Given the description of an element on the screen output the (x, y) to click on. 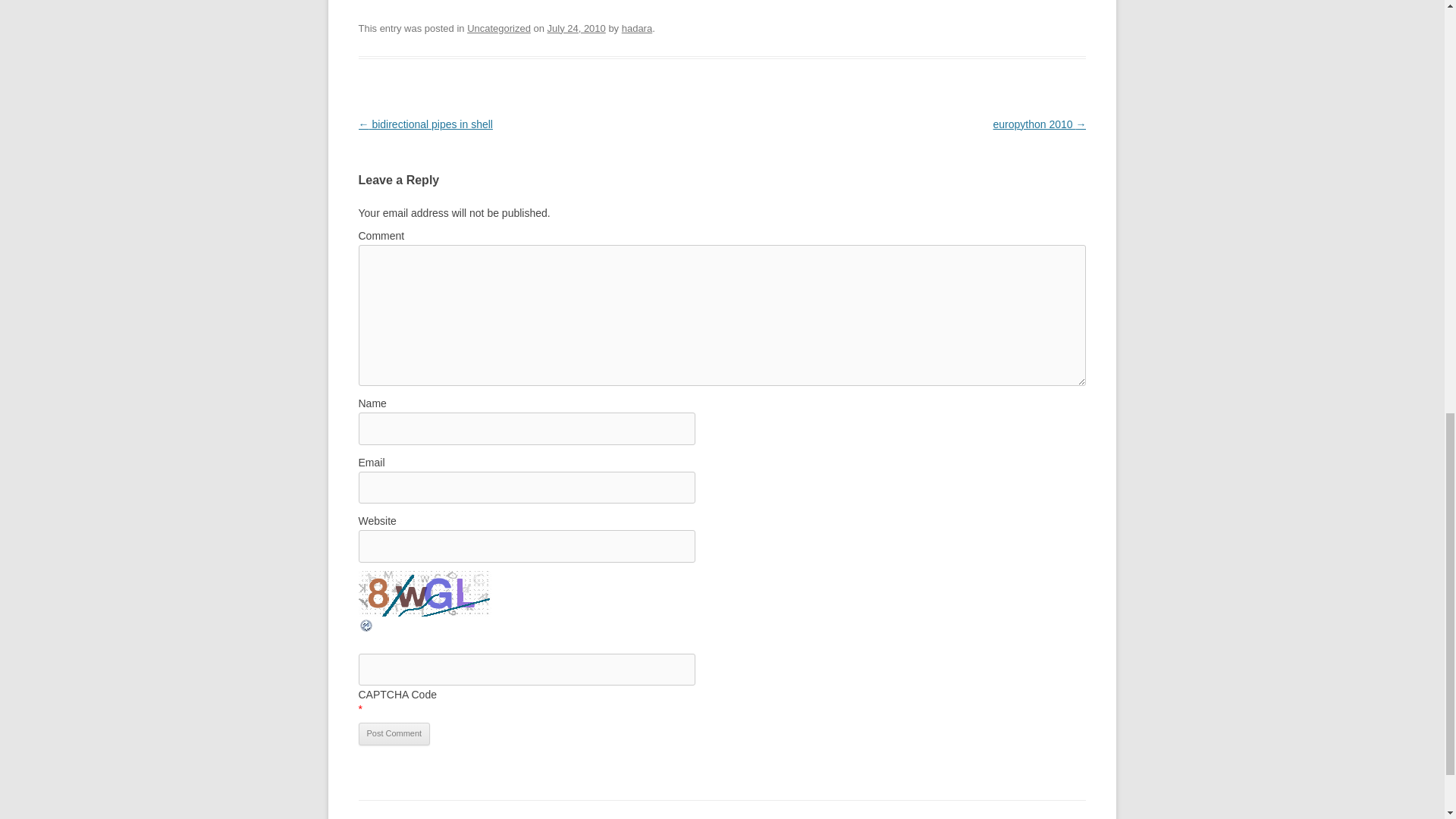
Uncategorized (499, 28)
10:01 pm (576, 28)
Post Comment (393, 733)
View all posts by hadara (636, 28)
CAPTCHA Image (424, 593)
Refresh Image (366, 629)
Post Comment (393, 733)
July 24, 2010 (576, 28)
hadara (636, 28)
